Given the description of an element on the screen output the (x, y) to click on. 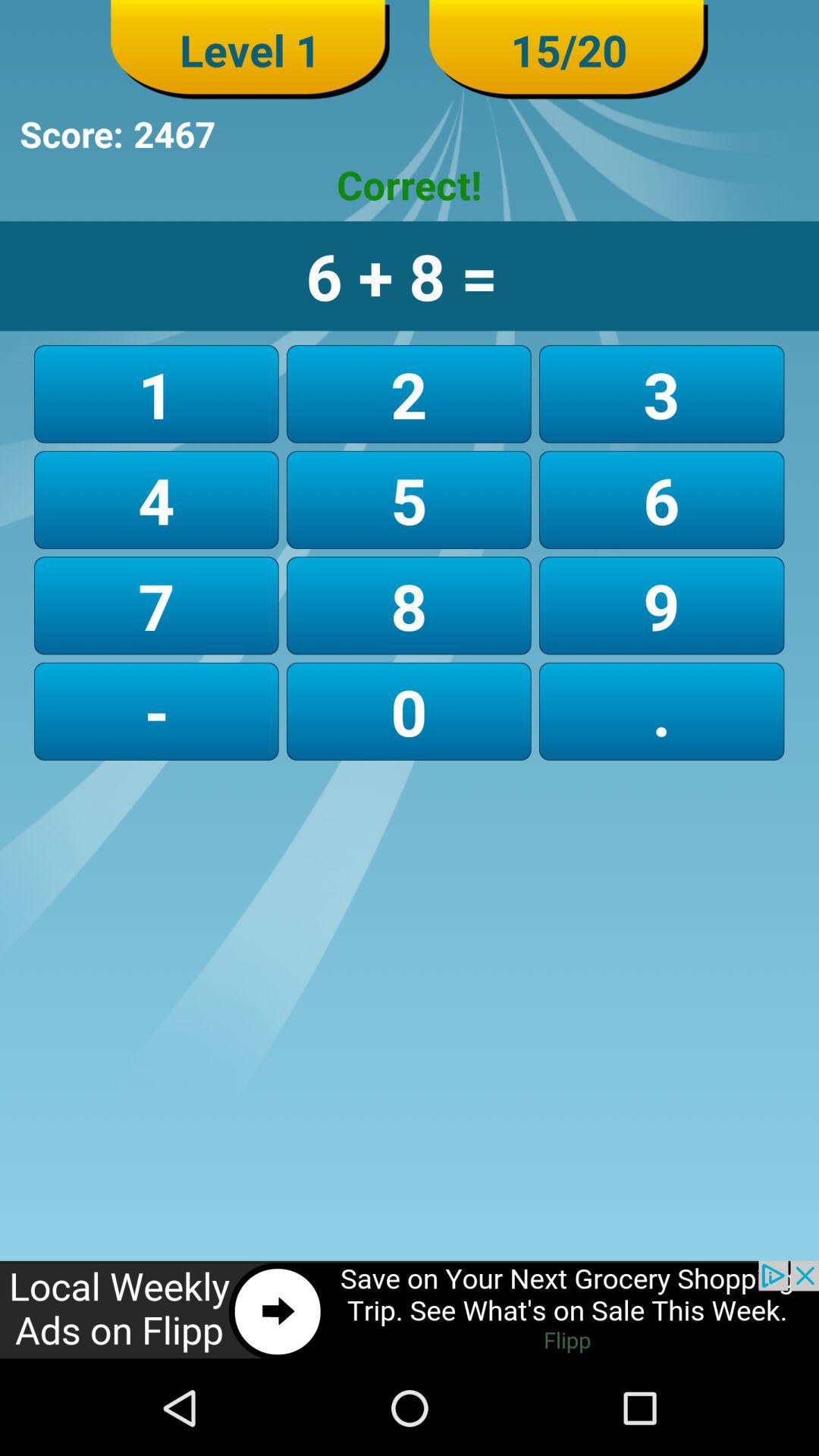
click on advertisement (409, 1310)
